Given the description of an element on the screen output the (x, y) to click on. 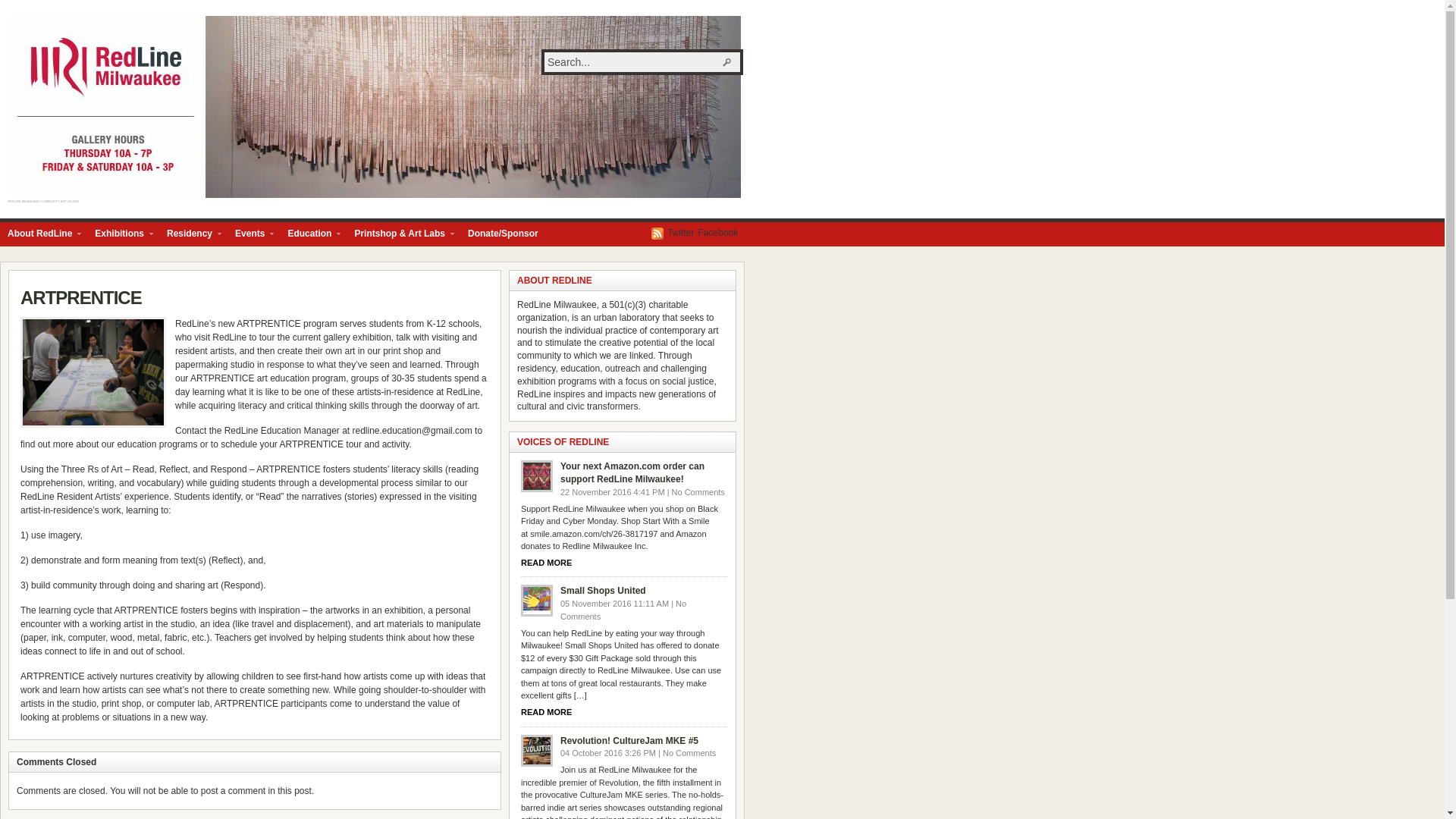
Search (728, 61)
RedLine Milwaukee RSS Feed (656, 233)
REDLINE MILWAUKEE (374, 106)
Search... (633, 61)
Search (728, 61)
RSS Feed (656, 233)
Search RedLine Milwaukee (728, 61)
Search (728, 61)
ARTPRENTICE (80, 297)
